Given the description of an element on the screen output the (x, y) to click on. 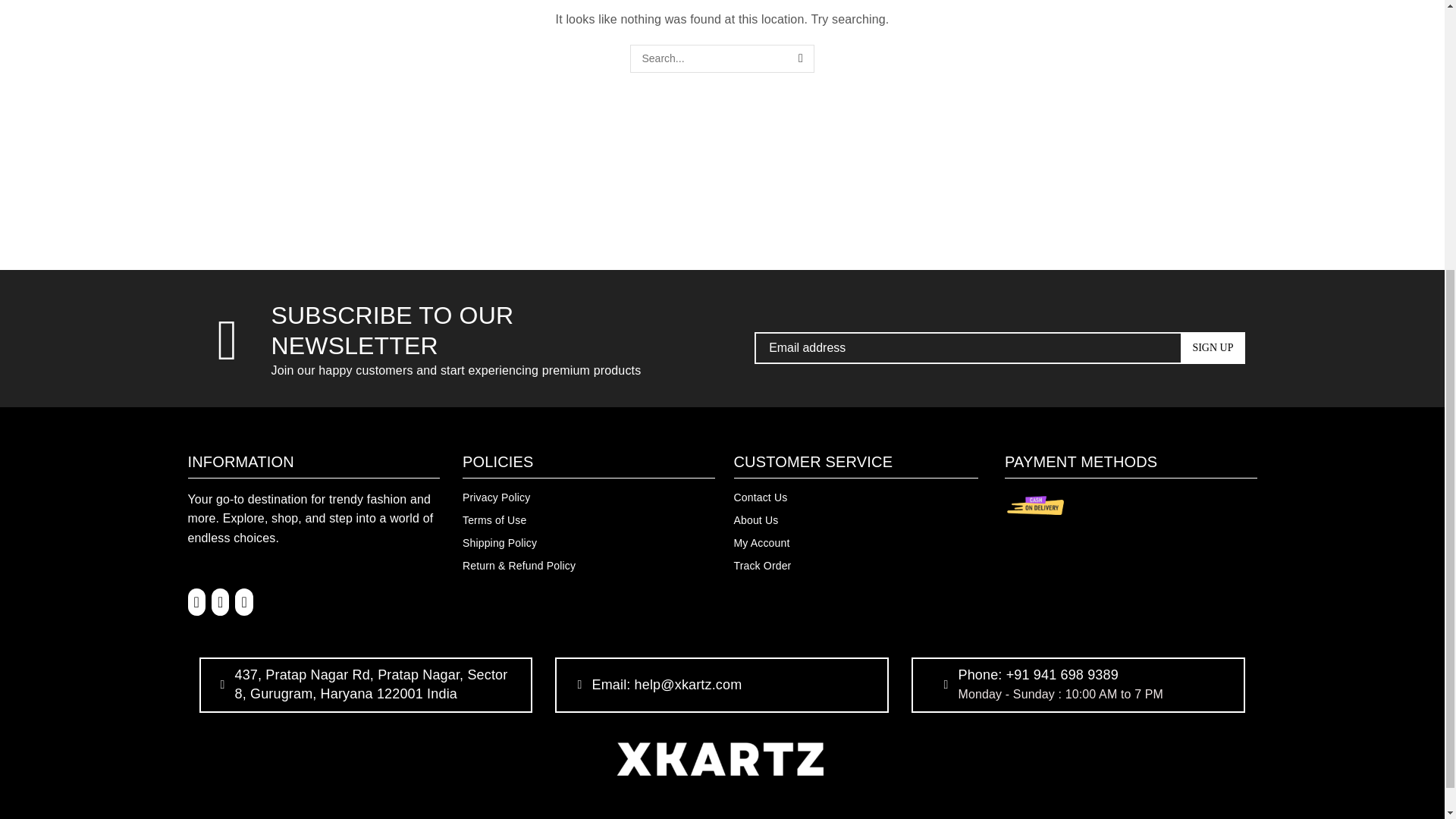
Contact Us (855, 497)
My Account (855, 542)
Sign UP (1212, 347)
Terms of Use (588, 519)
Track Order (855, 565)
Shipping Policy (588, 542)
Privacy Policy (588, 497)
About Us (855, 519)
